Given the description of an element on the screen output the (x, y) to click on. 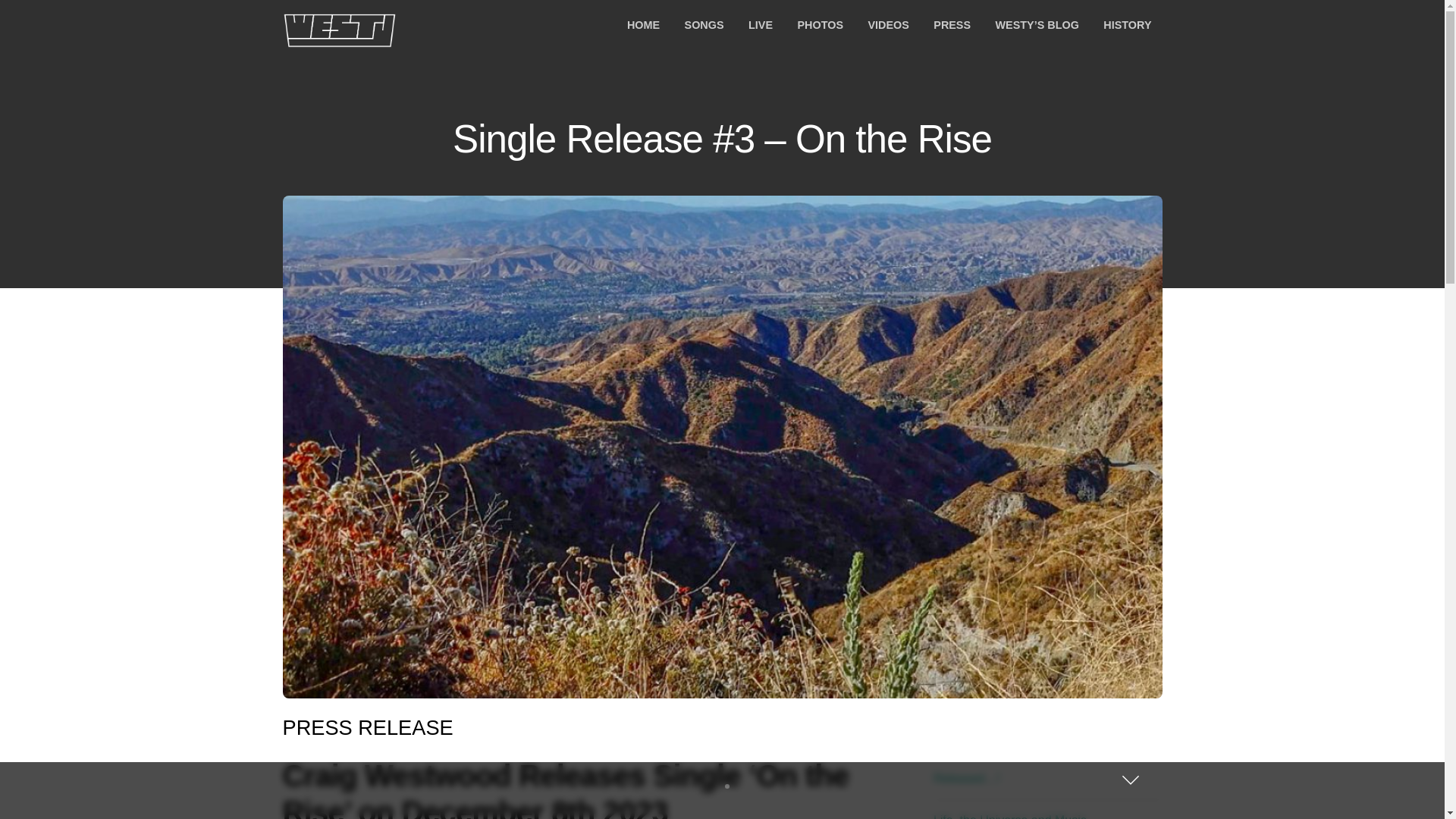
SONGS (704, 25)
HOME (642, 25)
PHOTOS (819, 25)
LIVE (760, 25)
WestyMusic (339, 39)
HISTORY (1127, 25)
VIDEOS (887, 25)
PRESS (952, 25)
Collapse player (1129, 779)
